Given the description of an element on the screen output the (x, y) to click on. 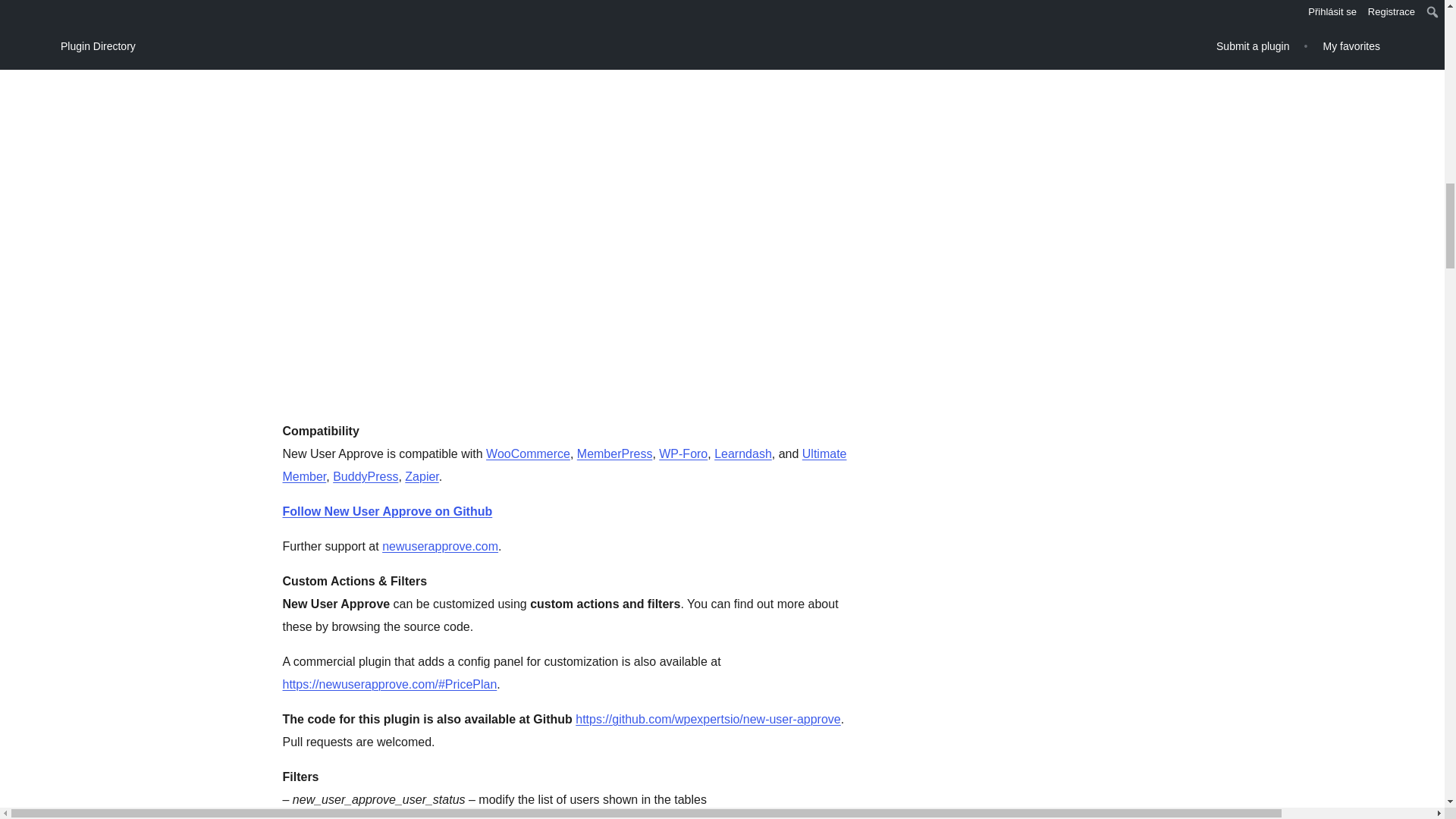
WP-Foro (683, 453)
WooCommerce (528, 453)
MemberPress (614, 453)
